Given the description of an element on the screen output the (x, y) to click on. 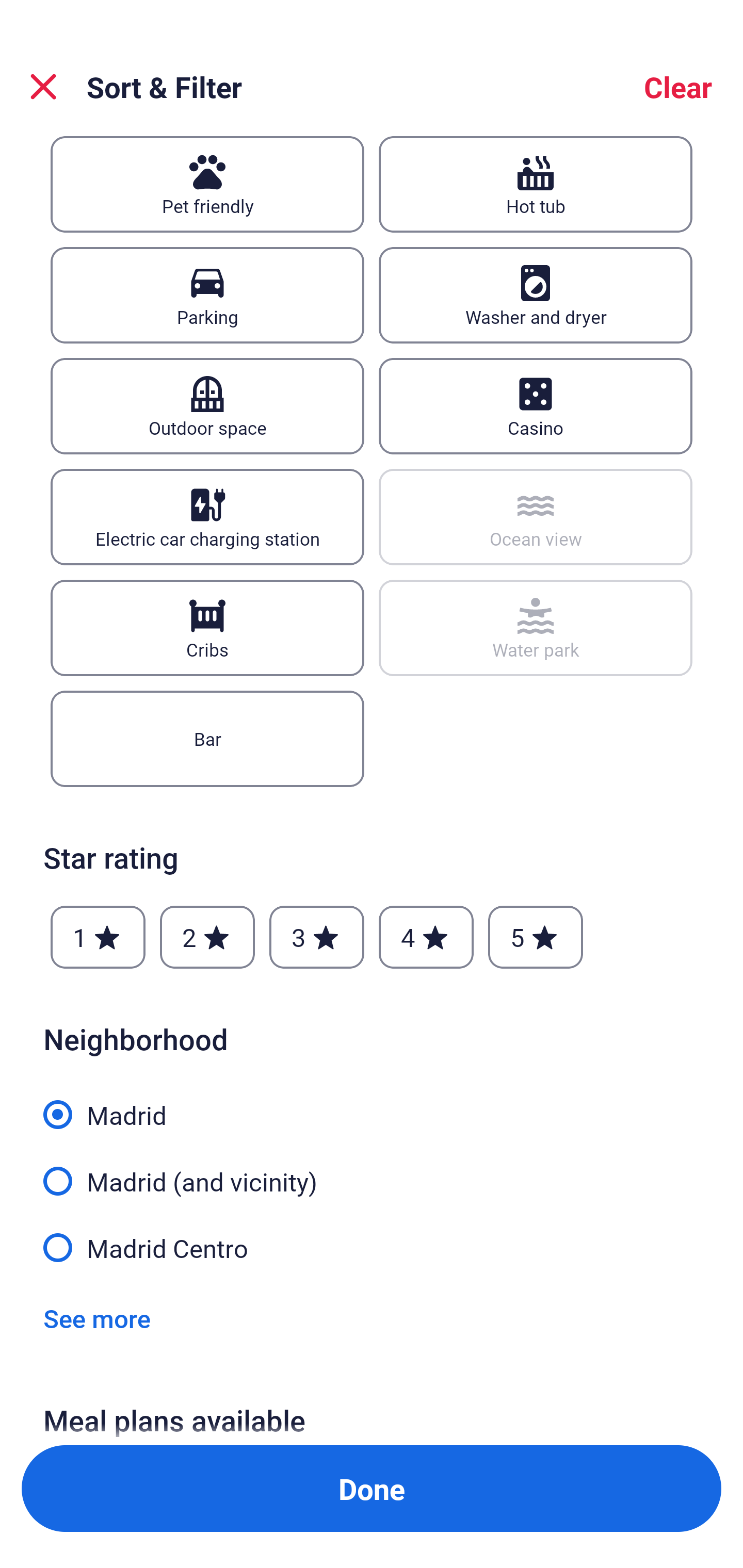
Close Sort and Filter (43, 86)
Clear (677, 86)
Pet friendly (207, 184)
Hot tub (535, 184)
Parking (207, 295)
Washer and dryer (535, 295)
Outdoor space (207, 405)
Casino (535, 405)
Electric car charging station (207, 517)
Ocean view (535, 517)
Cribs (207, 627)
Water park (535, 627)
Bar (207, 738)
1 (97, 936)
2 (206, 936)
3 (316, 936)
4 (426, 936)
5 (535, 936)
Madrid (and vicinity) (371, 1169)
Madrid Centro (371, 1246)
See more See more neighborhoods Link (96, 1317)
Apply and close Sort and Filter Done (371, 1488)
